Given the description of an element on the screen output the (x, y) to click on. 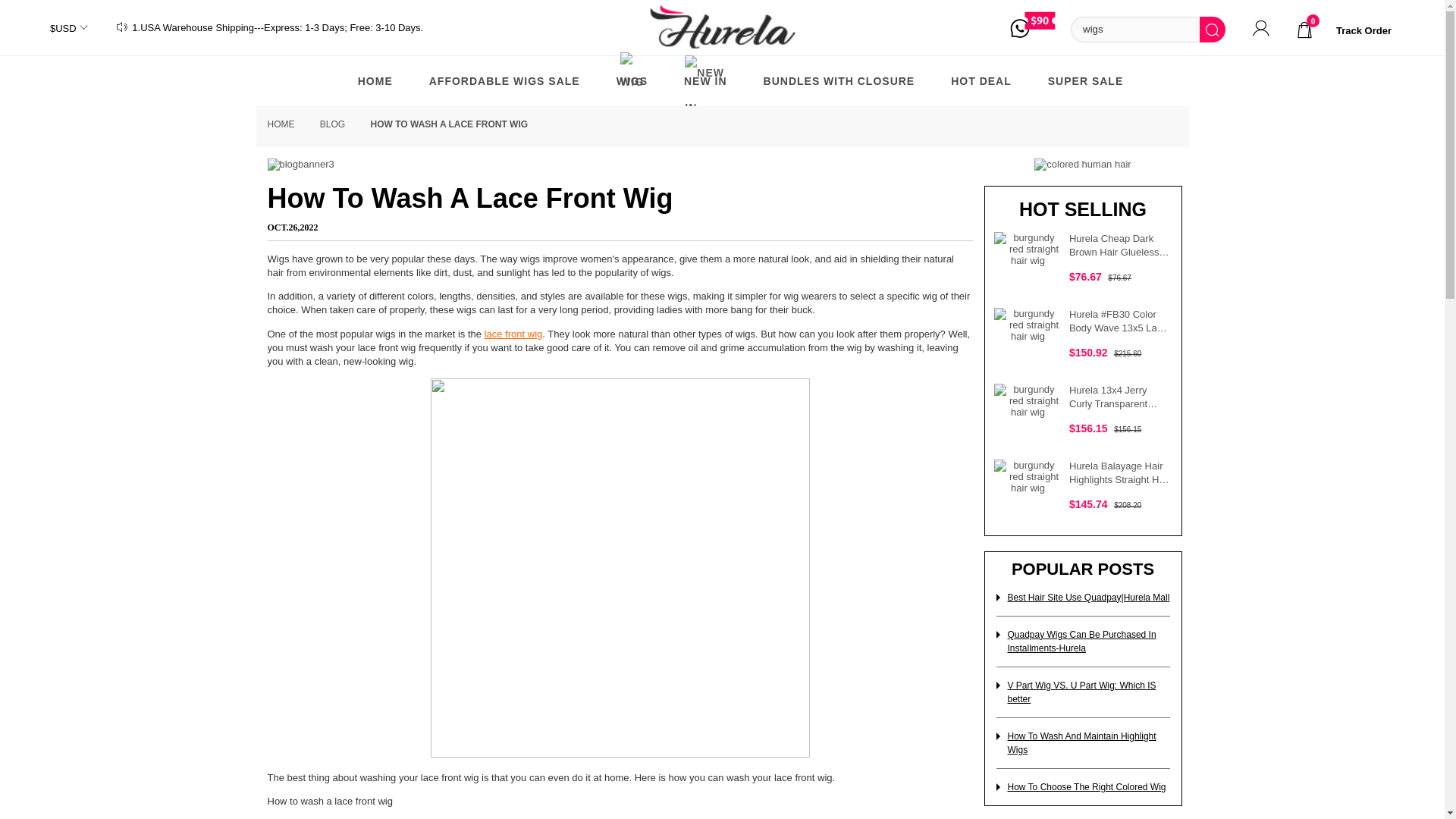
Wigs (631, 80)
Coupon code (1040, 27)
wigs (1134, 29)
Lace Part Wig (504, 80)
track order (1363, 30)
Search (1212, 29)
AFFORDABLE WIGS SALE (504, 80)
WIGS (631, 80)
Track Order (1363, 30)
Home (375, 80)
hurela hair Mall (722, 29)
my account (1260, 29)
Currency (61, 28)
HOME (375, 80)
wigs (1134, 29)
